Given the description of an element on the screen output the (x, y) to click on. 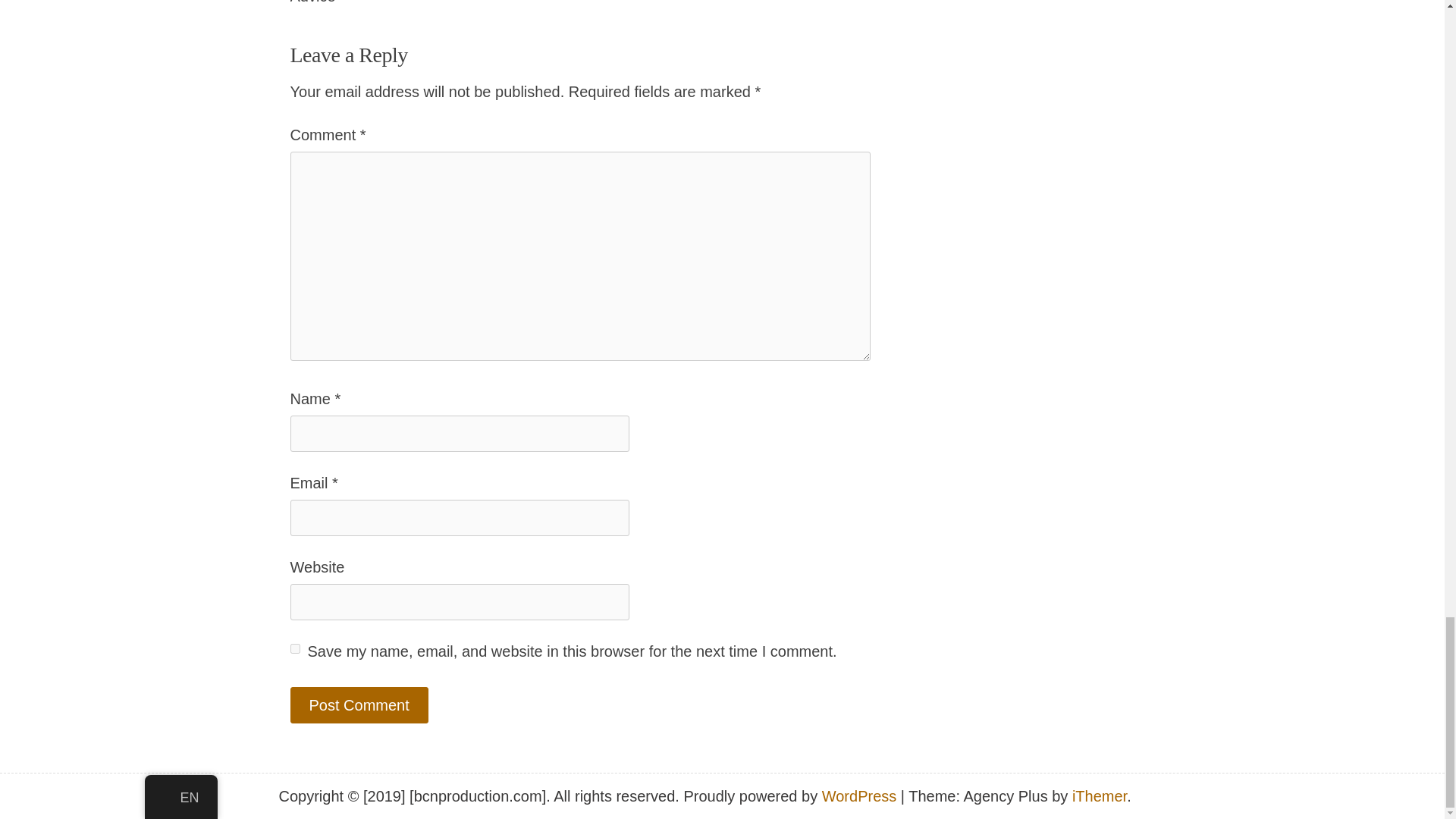
yes (294, 648)
Post Comment (358, 705)
iThemer (1098, 795)
Post Comment (358, 705)
WordPress (859, 795)
